Given the description of an element on the screen output the (x, y) to click on. 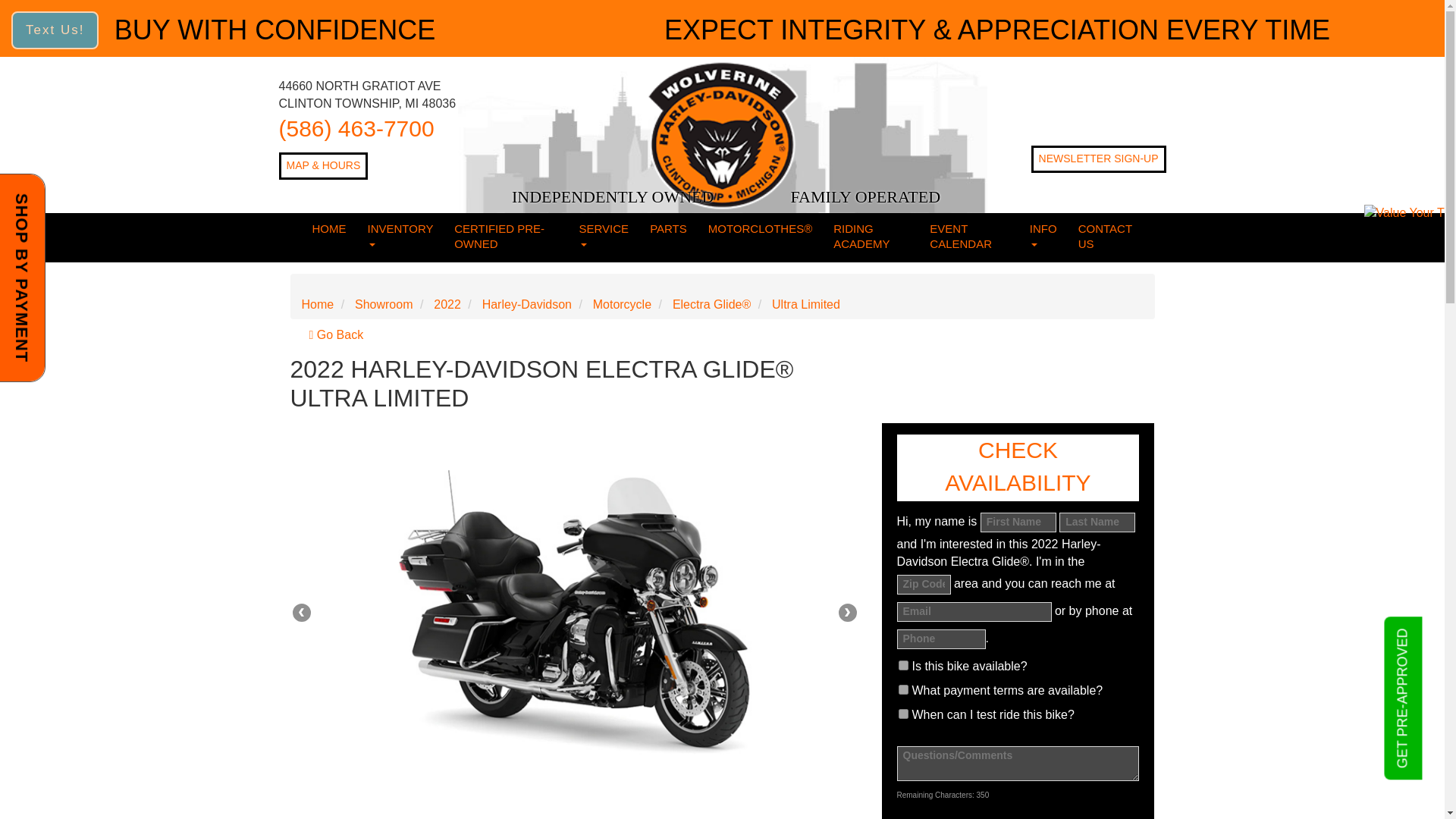
HOME (328, 229)
Certified Pre-Owned (505, 237)
PARTS (668, 229)
Home (328, 229)
EVENT CALENDAR (968, 237)
true (902, 714)
RIDING ACADEMY (870, 237)
NEWSLETTER SIGN-UP (1098, 158)
INFO (1043, 237)
SERVICE (604, 237)
Inventory (400, 237)
CERTIFIED PRE-OWNED (505, 237)
true (902, 689)
INVENTORY (400, 237)
true (902, 665)
